Given the description of an element on the screen output the (x, y) to click on. 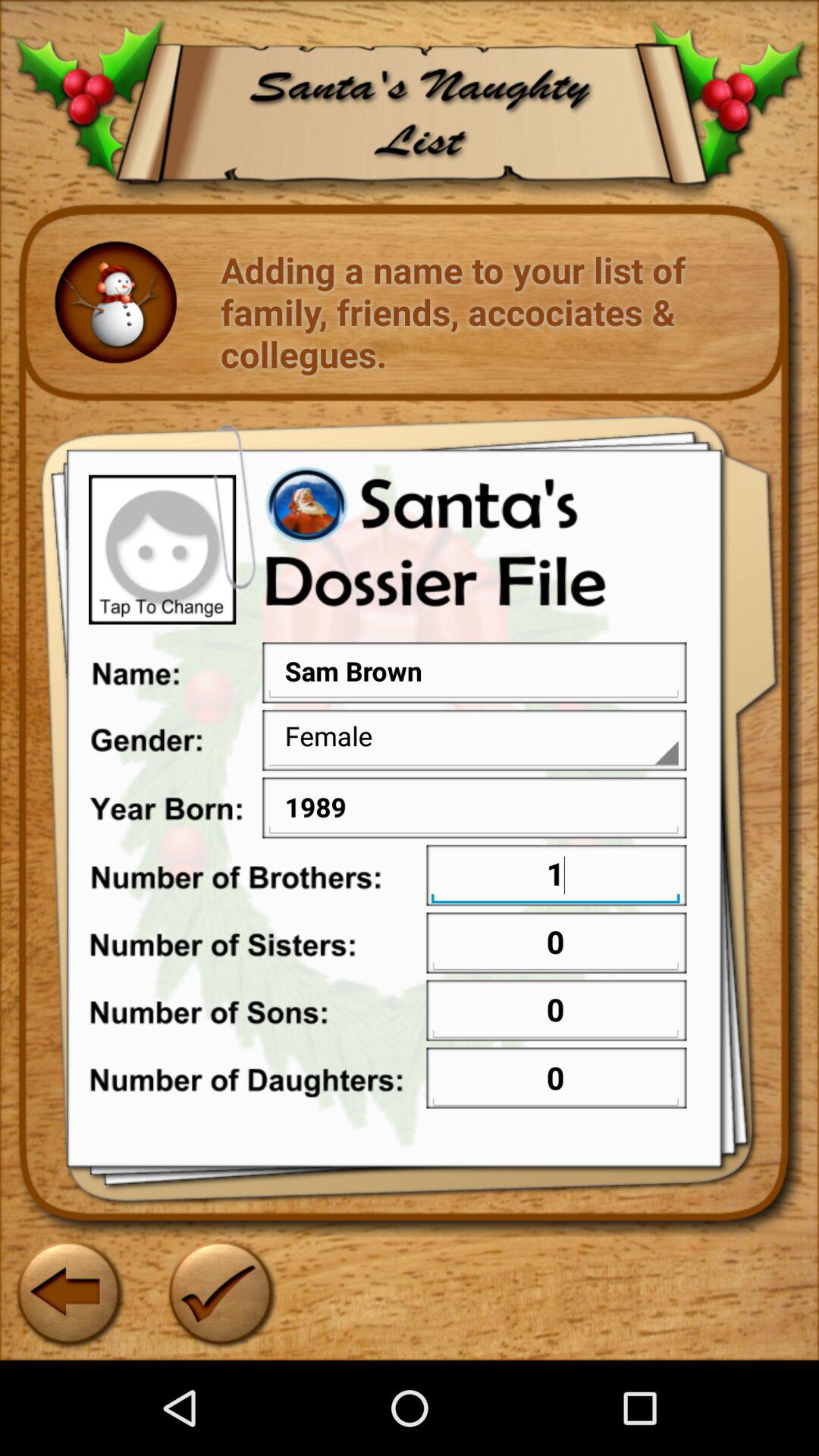
change profile picture (162, 549)
